Given the description of an element on the screen output the (x, y) to click on. 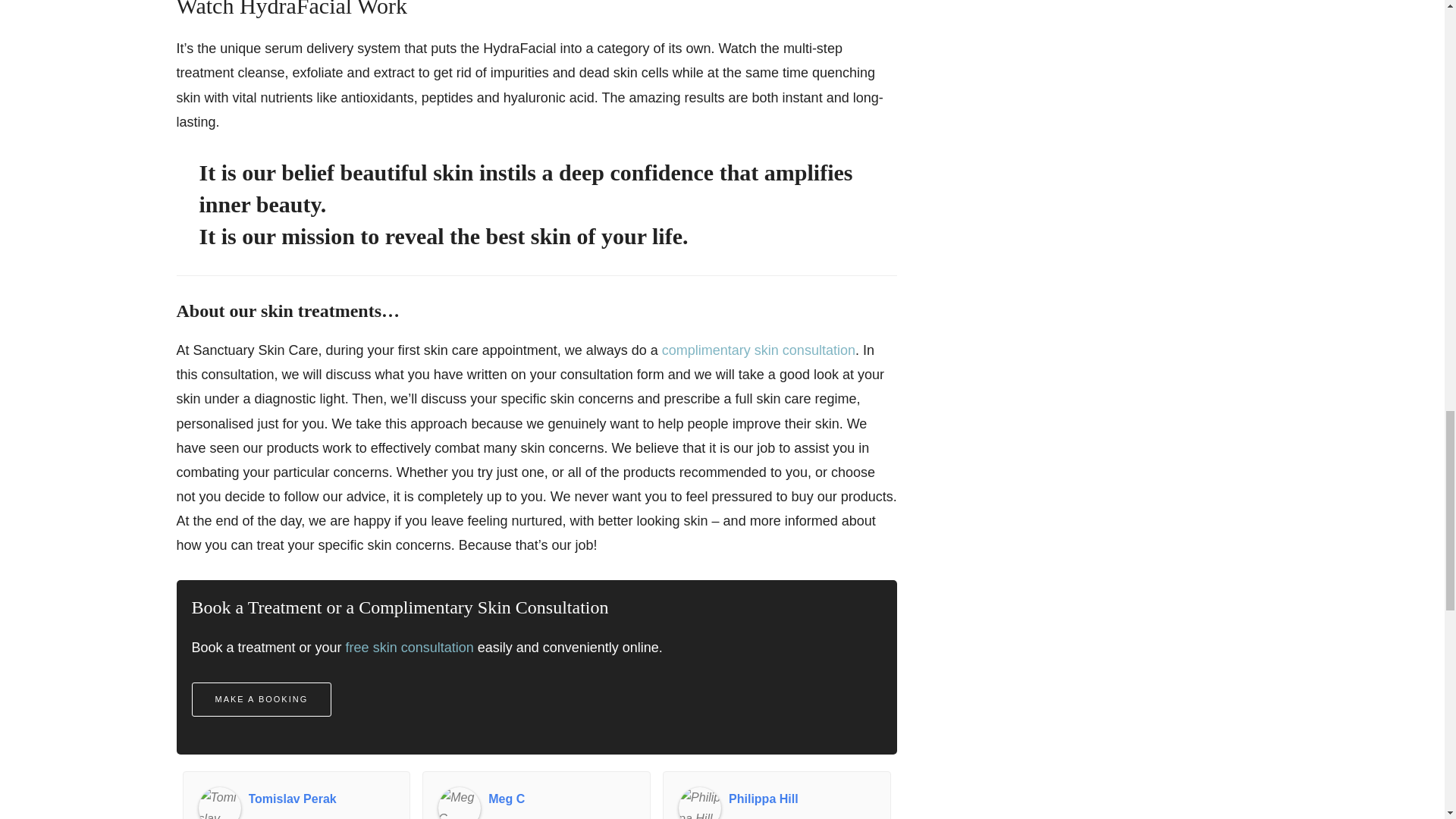
Philippa Hill (699, 803)
Meg C (560, 798)
Meg C (560, 798)
Meg C (459, 803)
Tomislav Perak (321, 798)
free skin consultation (410, 647)
Tomislav Perak (321, 798)
Philippa Hill (802, 798)
complimentary skin consultation (759, 350)
Tomislav Perak (219, 803)
